Given the description of an element on the screen output the (x, y) to click on. 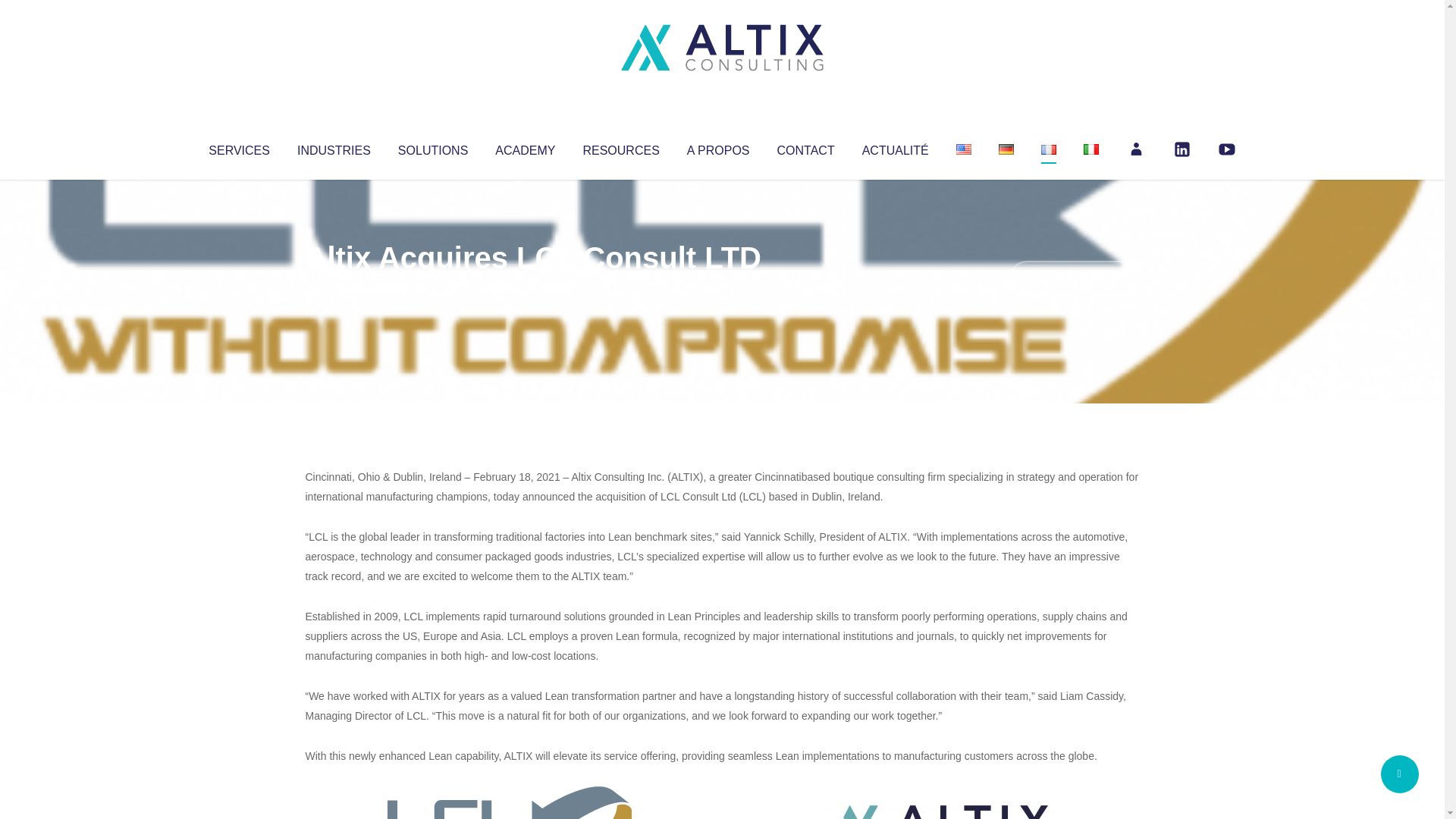
INDUSTRIES (334, 146)
A PROPOS (718, 146)
ACADEMY (524, 146)
Altix (333, 287)
No Comments (1073, 278)
RESOURCES (620, 146)
SERVICES (238, 146)
SOLUTIONS (432, 146)
Articles par Altix (333, 287)
Uncategorized (530, 287)
